Given the description of an element on the screen output the (x, y) to click on. 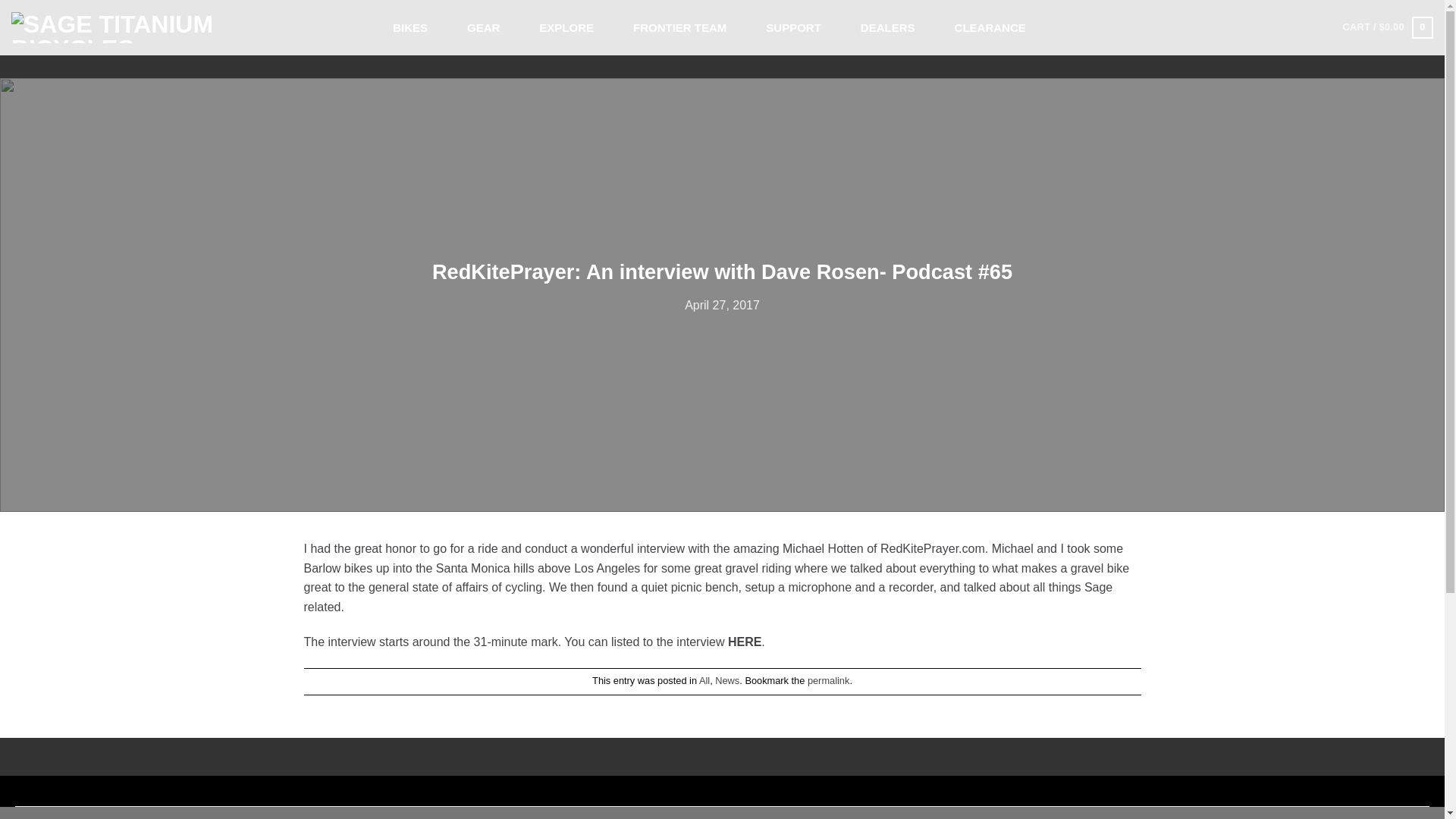
News (726, 680)
SUPPORT (793, 27)
Sage Titanium Bicycles (117, 27)
Cart (1387, 27)
EXPLORE (565, 27)
DEALERS (887, 27)
HERE (744, 641)
BIKES (409, 27)
FRONTIER TEAM (678, 27)
CLEARANCE (989, 27)
